Given the description of an element on the screen output the (x, y) to click on. 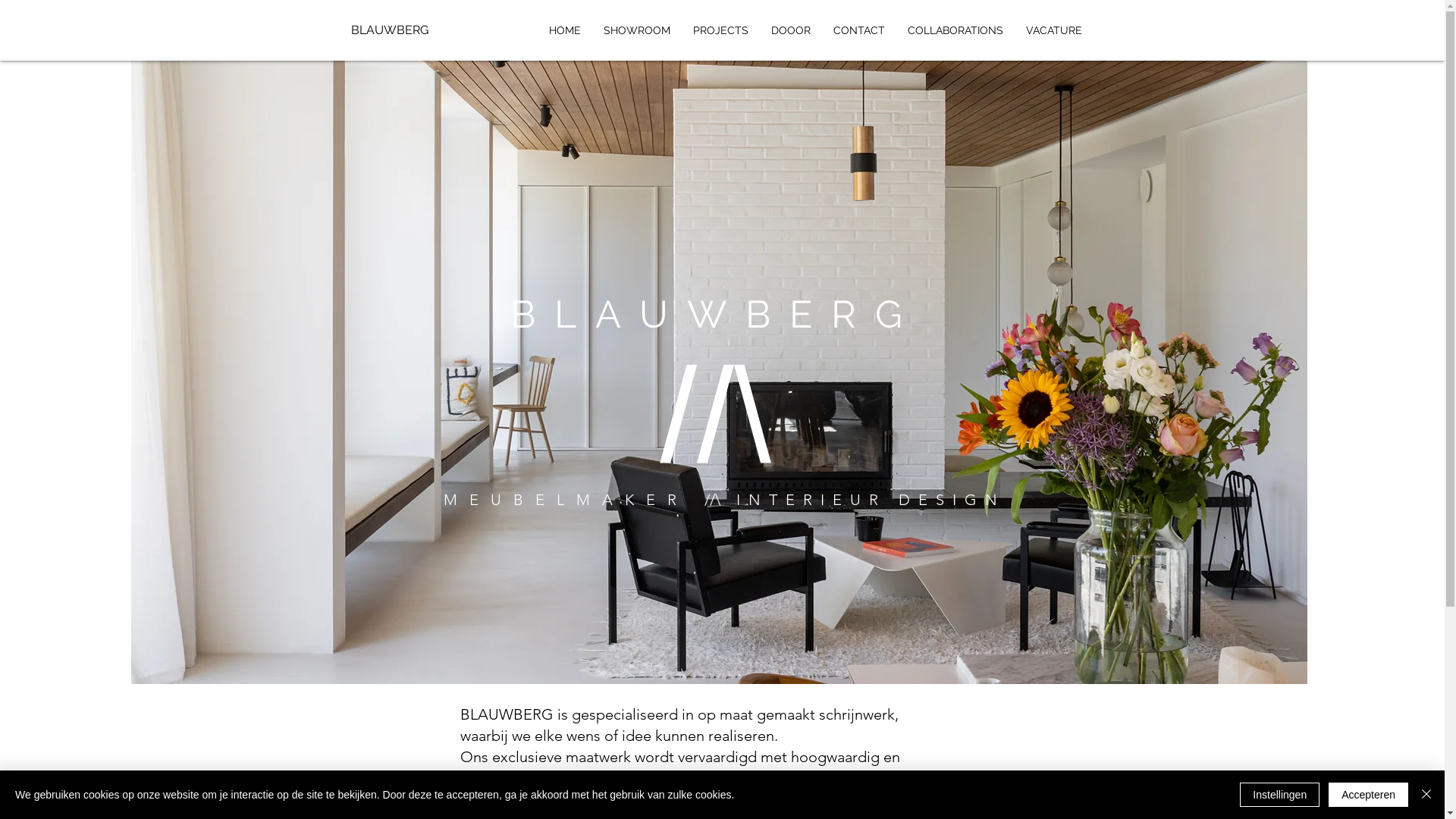
Accepteren Element type: text (1368, 794)
HOME Element type: text (563, 30)
VACATURE Element type: text (1053, 30)
Instellingen Element type: text (1279, 794)
SHOWROOM Element type: text (635, 30)
PROJECTS Element type: text (719, 30)
CONTACT Element type: text (859, 30)
COLLABORATIONS Element type: text (955, 30)
BLAUWBERG Element type: text (399, 30)
DOOOR Element type: text (790, 30)
